Given the description of an element on the screen output the (x, y) to click on. 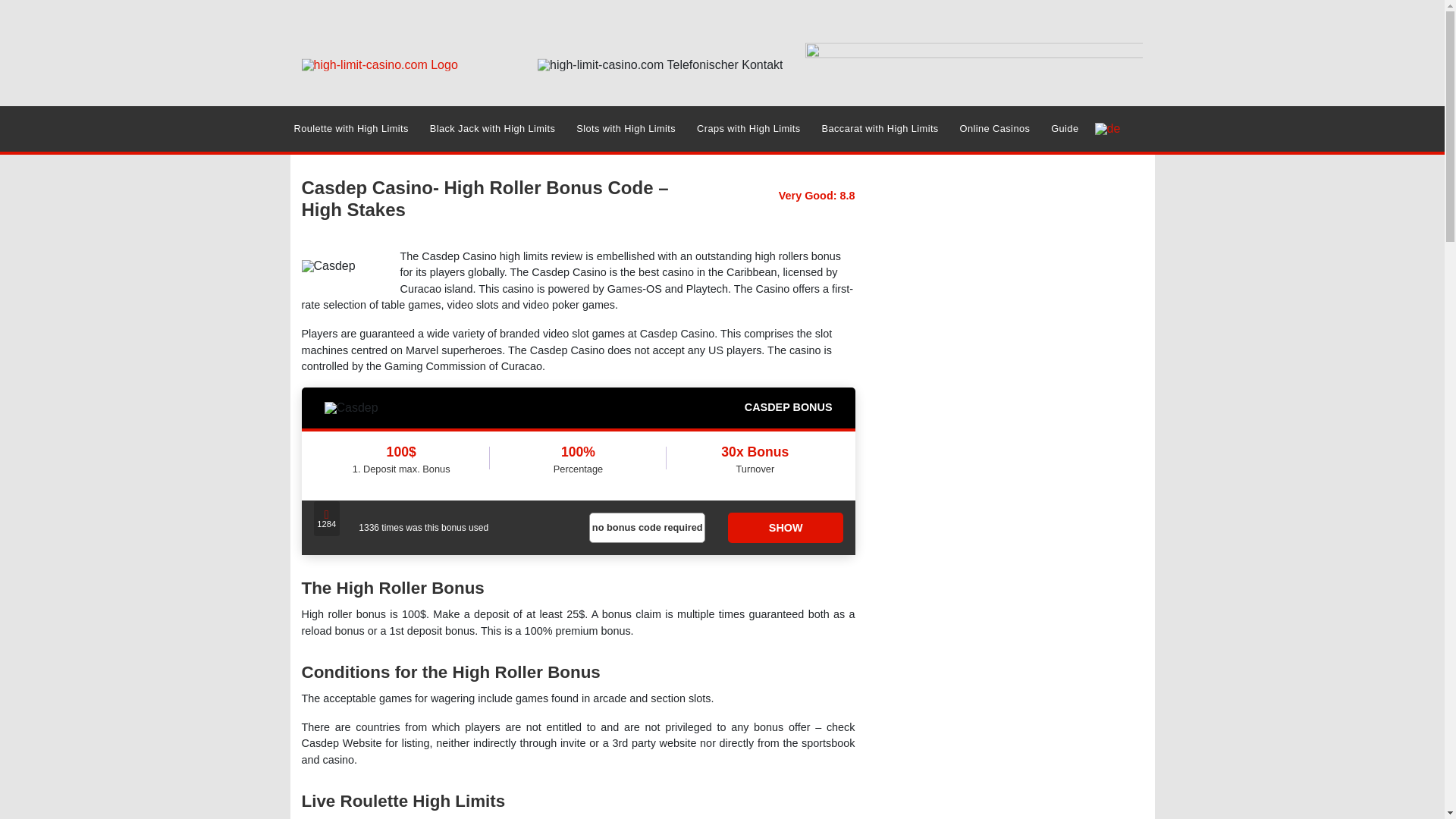
Baccarat with High Limits (880, 128)
Black Jack with High Limits (492, 128)
Craps with High Limits (749, 128)
Roulette with High Limits (350, 128)
Slots with High Limits (625, 128)
Online Casinos (994, 128)
